Given the description of an element on the screen output the (x, y) to click on. 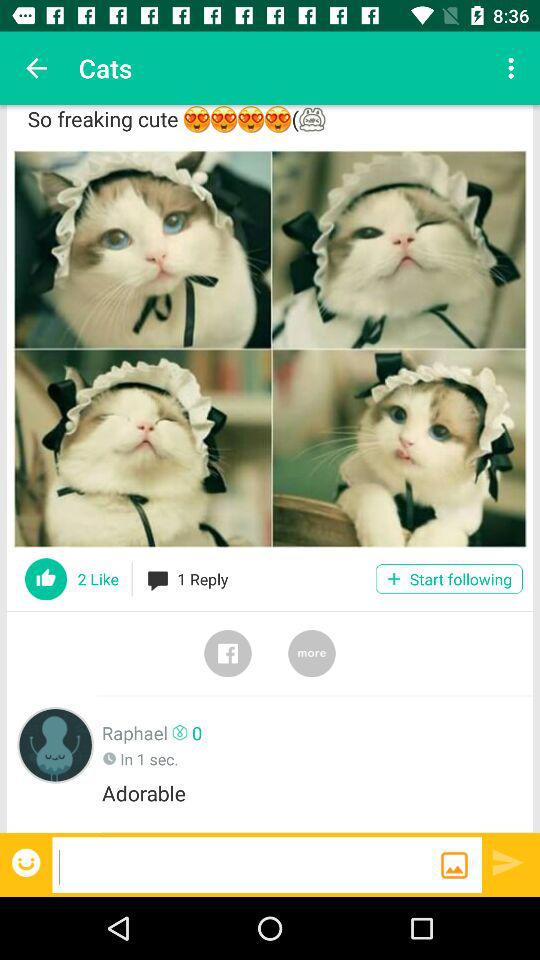
share on facebook (228, 653)
